Given the description of an element on the screen output the (x, y) to click on. 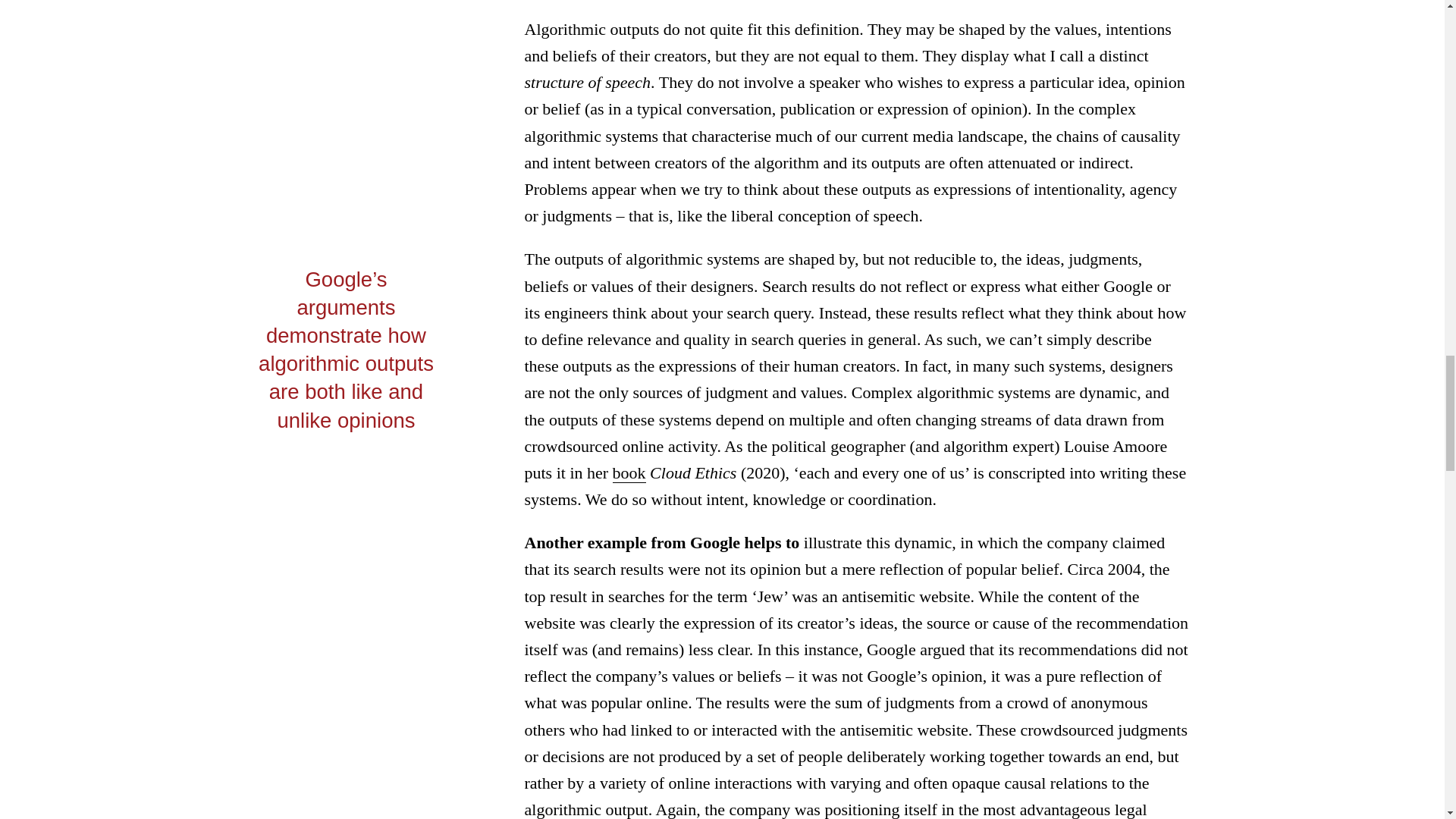
book (629, 473)
